Given the description of an element on the screen output the (x, y) to click on. 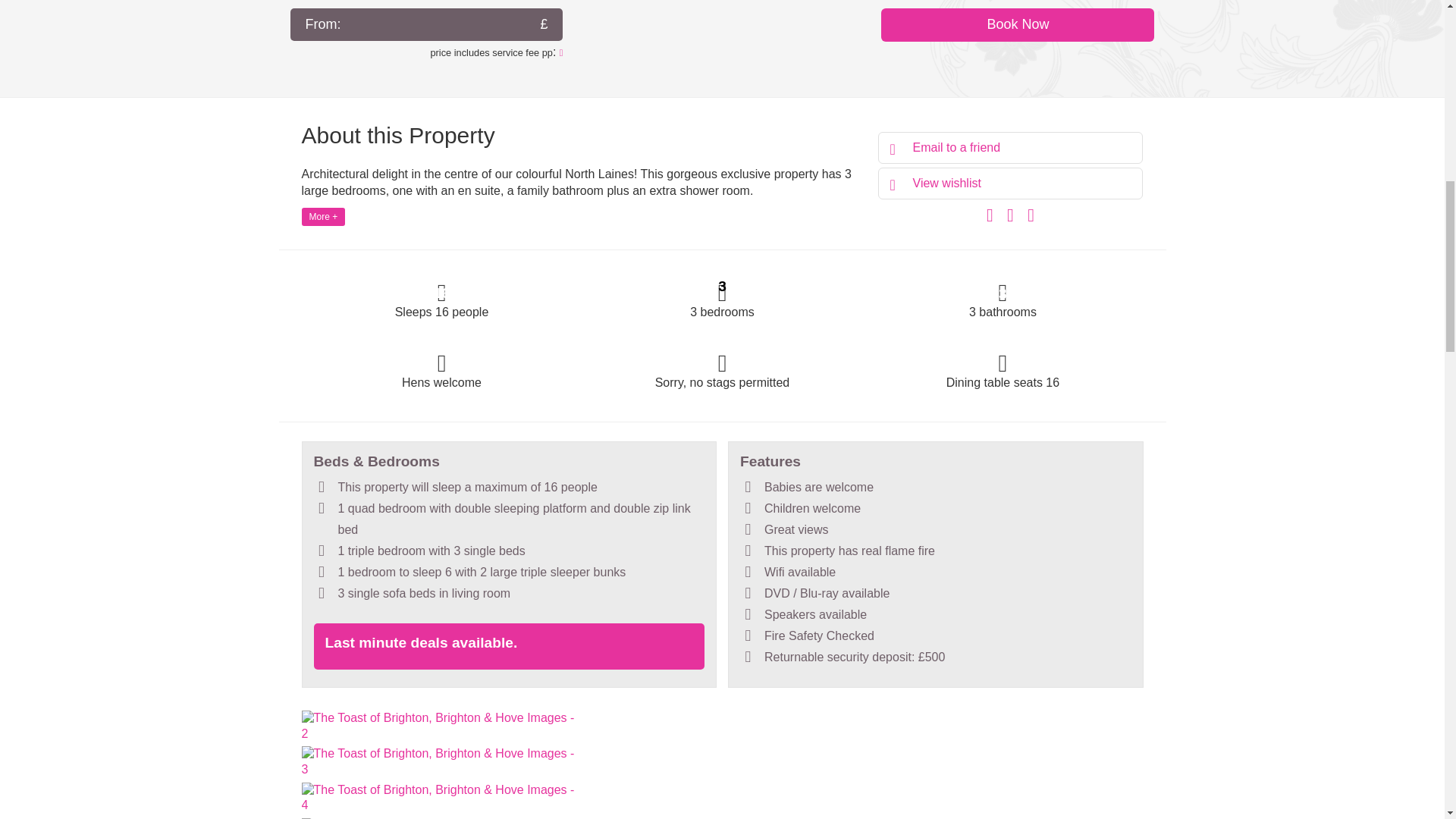
add to wishlist (1009, 183)
